Given the description of an element on the screen output the (x, y) to click on. 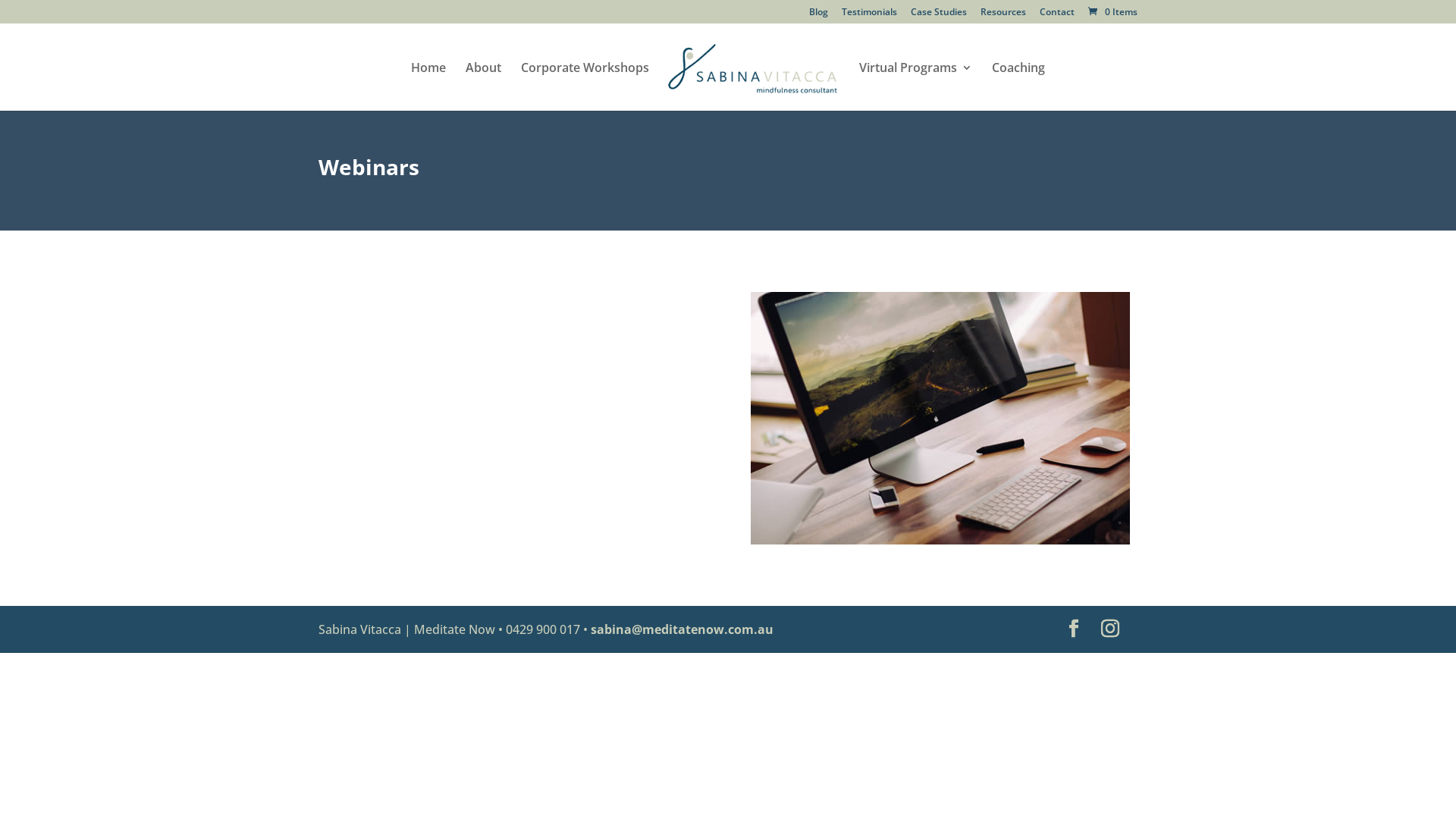
Blog Element type: text (818, 15)
Resources Element type: text (1003, 15)
Home Element type: text (428, 86)
Contact Element type: text (1056, 15)
Testimonials Element type: text (869, 15)
Virtual Programs Element type: text (914, 86)
Corporate Workshops Element type: text (584, 86)
Case Studies Element type: text (938, 15)
Coaching Element type: text (1017, 86)
sabina@meditatenow.com.au Element type: text (681, 629)
0 Items Element type: text (1111, 11)
About Element type: text (483, 86)
